Given the description of an element on the screen output the (x, y) to click on. 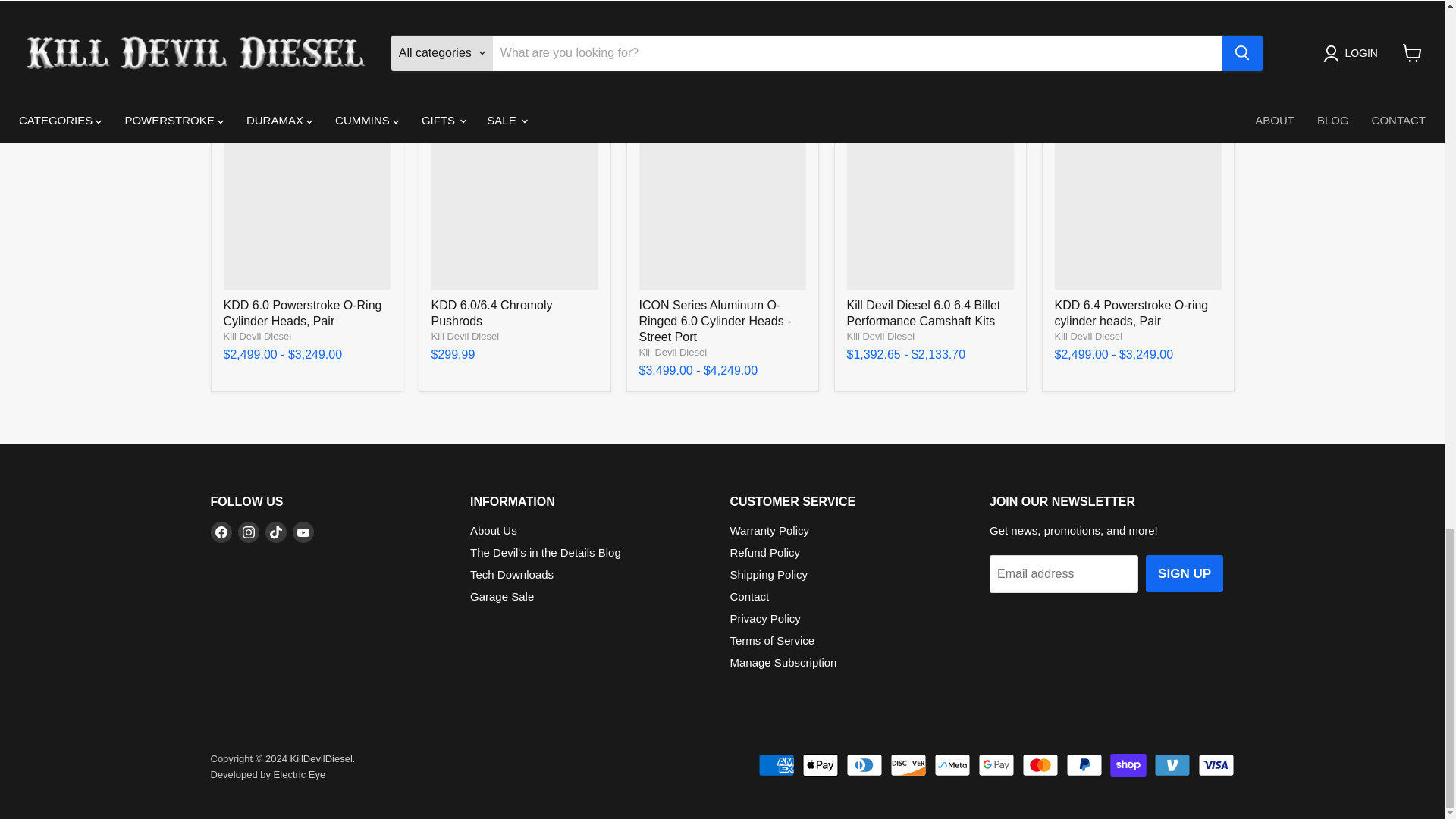
Kill Devil Diesel (672, 351)
Kill Devil Diesel (464, 336)
Kill Devil Diesel (879, 336)
Facebook (221, 531)
Instagram (248, 531)
YouTube (303, 531)
TikTok (275, 531)
Kill Devil Diesel (256, 336)
Kill Devil Diesel (1088, 336)
